Given the description of an element on the screen output the (x, y) to click on. 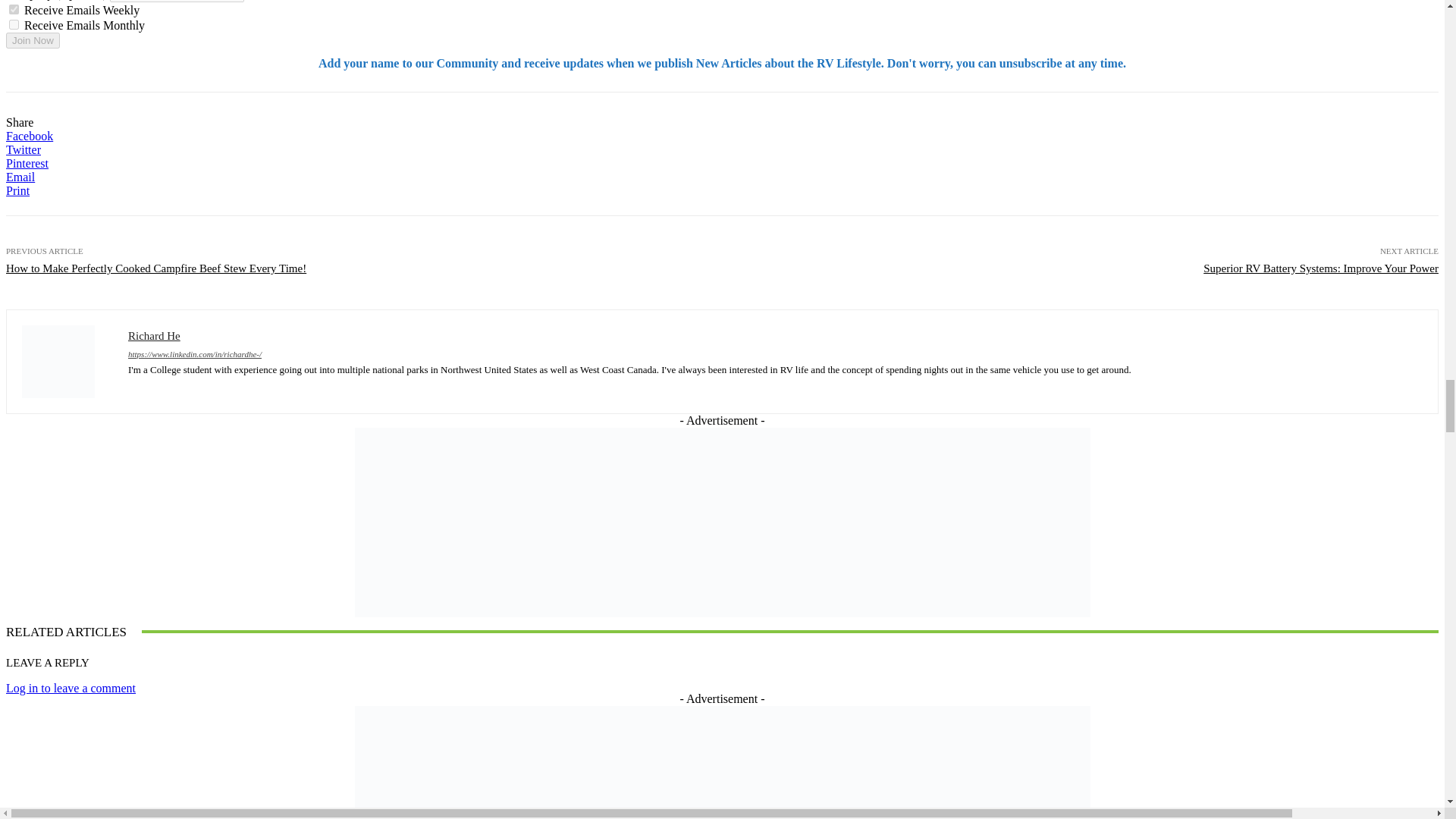
1 (13, 9)
Join Now (32, 40)
2 (13, 24)
